Given the description of an element on the screen output the (x, y) to click on. 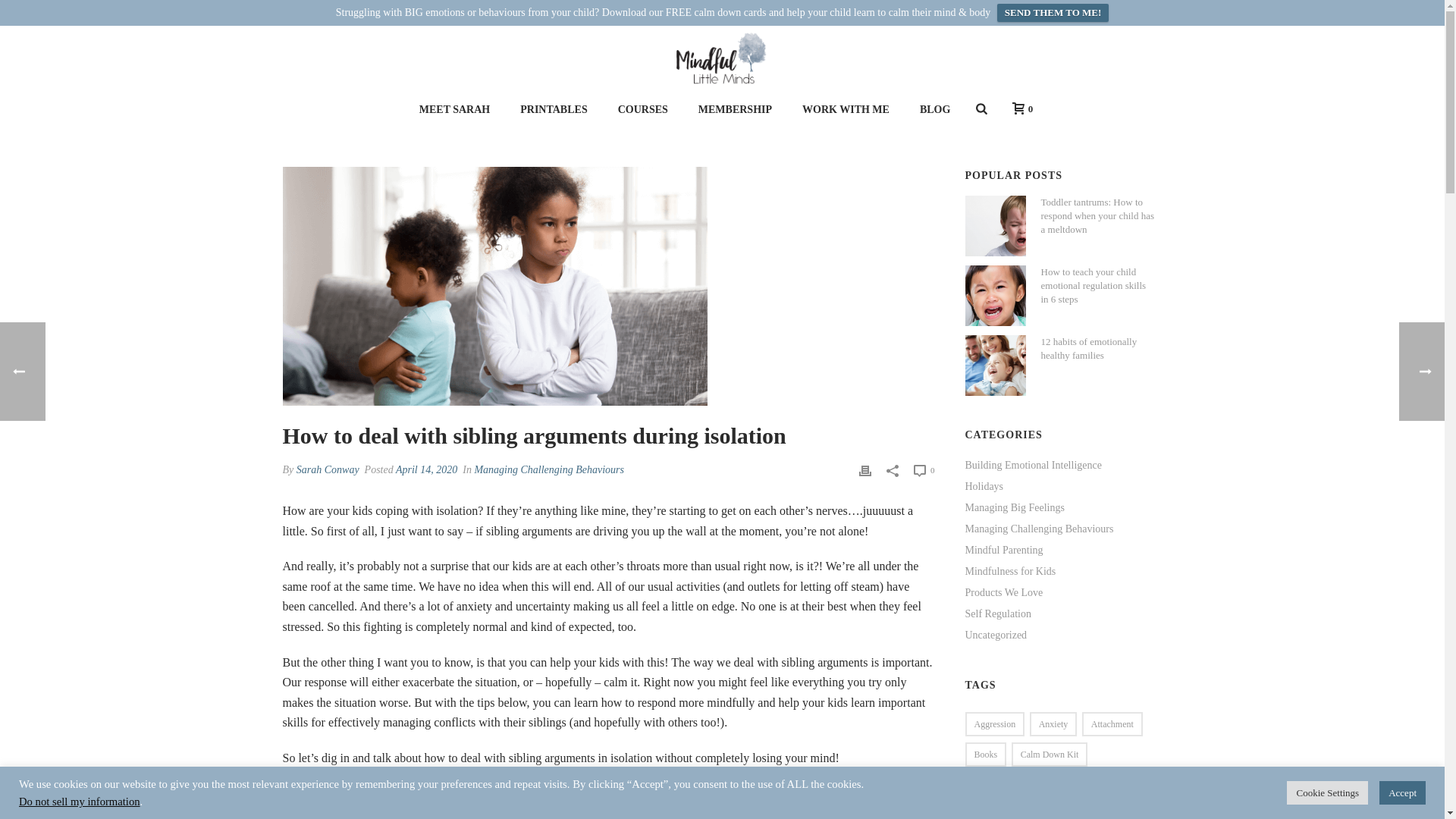
PRINTABLES (553, 109)
MEMBERSHIP (734, 109)
WORK WITH ME (845, 109)
BLOG (934, 109)
COURSES (642, 109)
0 (1019, 108)
Mindful Little Minds Psychology (721, 57)
MEMBERSHIP (734, 109)
MEET SARAH (454, 109)
SEND THEM TO ME! (1053, 13)
BLOG (934, 109)
WORK WITH ME (845, 109)
How to deal with sibling arguments during isolation (494, 286)
